Given the description of an element on the screen output the (x, y) to click on. 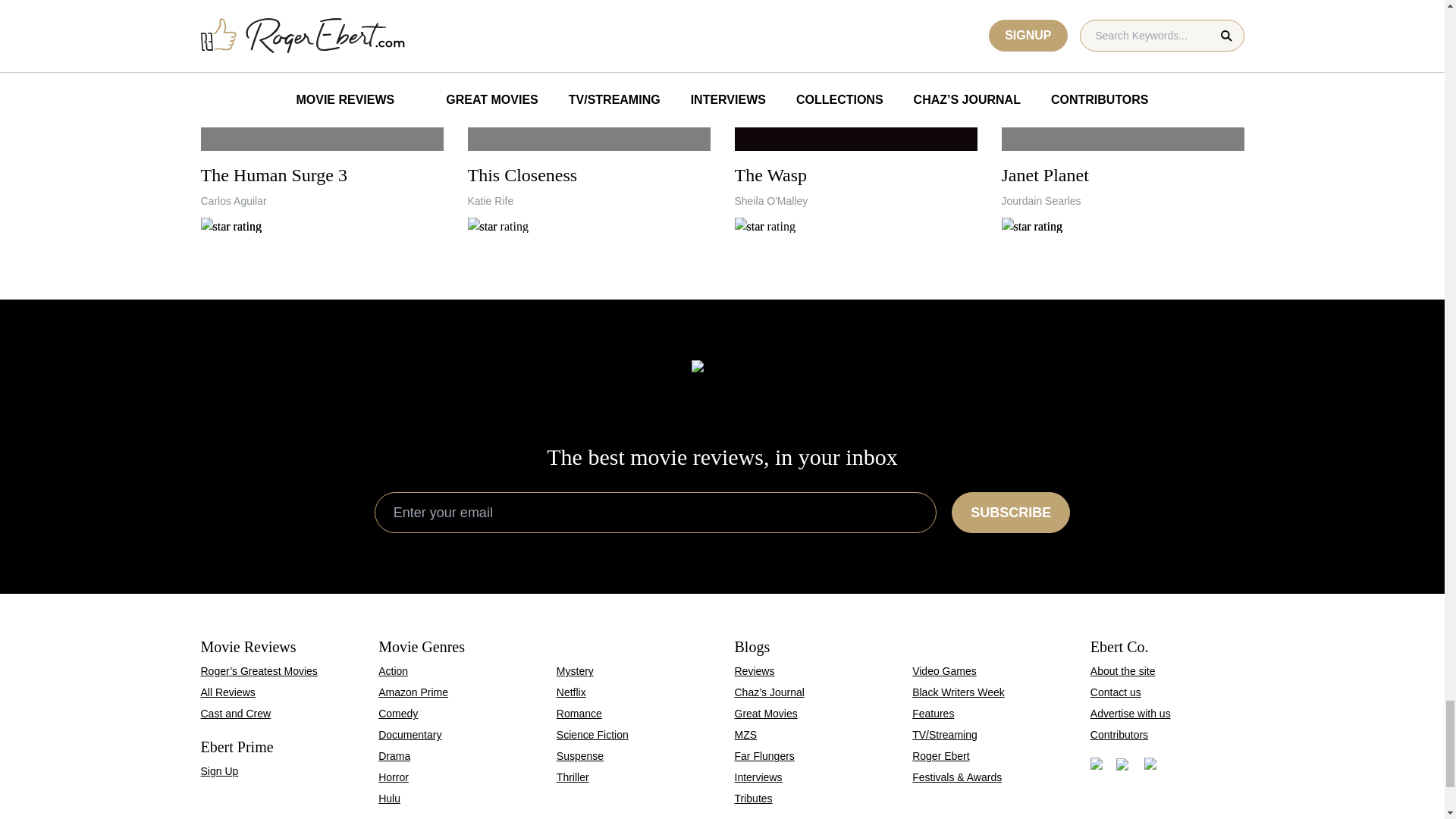
Subscribe (588, 116)
All Reviews (854, 116)
Cast and Crew (1011, 512)
Subscribe (321, 116)
